Given the description of an element on the screen output the (x, y) to click on. 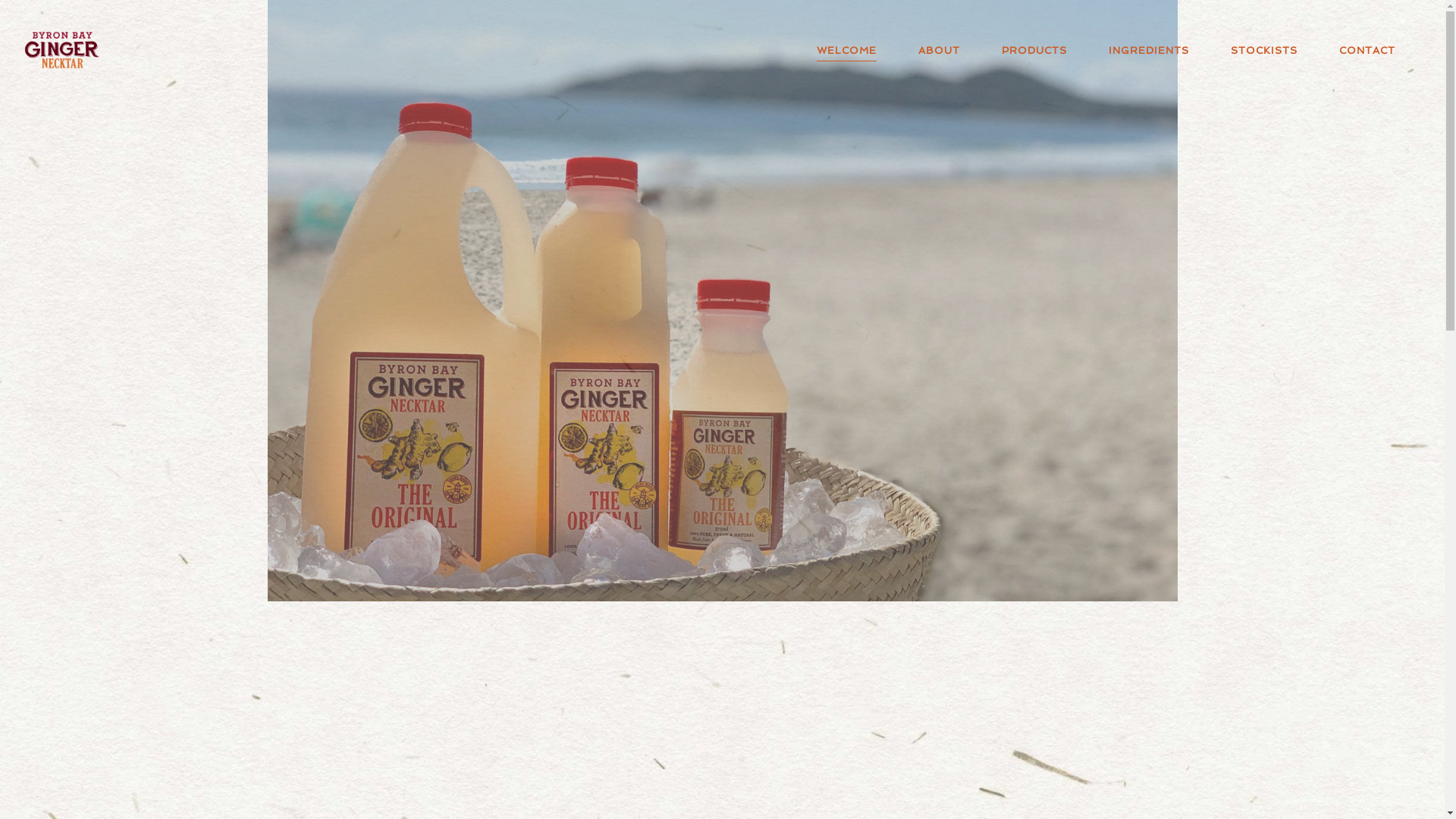
STOCKISTS Element type: text (1261, 50)
WELCOME Element type: text (843, 50)
CONTACT Element type: text (1364, 50)
INGREDIENTS Element type: text (1146, 50)
PRODUCTS Element type: text (1031, 50)
ABOUT Element type: text (936, 50)
